Given the description of an element on the screen output the (x, y) to click on. 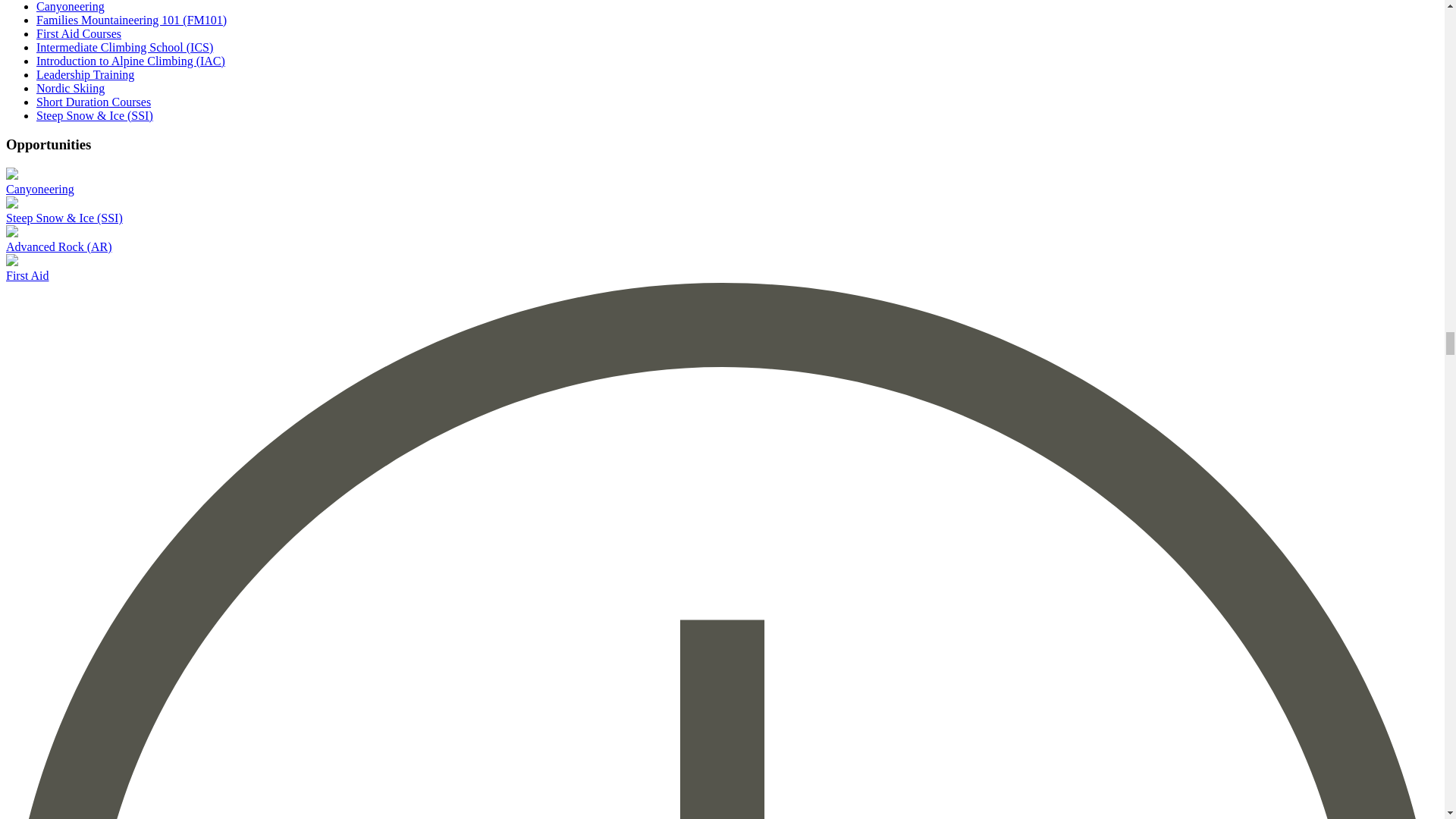
Canyoneering (70, 6)
Nordic Skiing (70, 88)
Leadership Training (84, 74)
Short Duration Courses (93, 101)
First Aid Courses (78, 33)
